Given the description of an element on the screen output the (x, y) to click on. 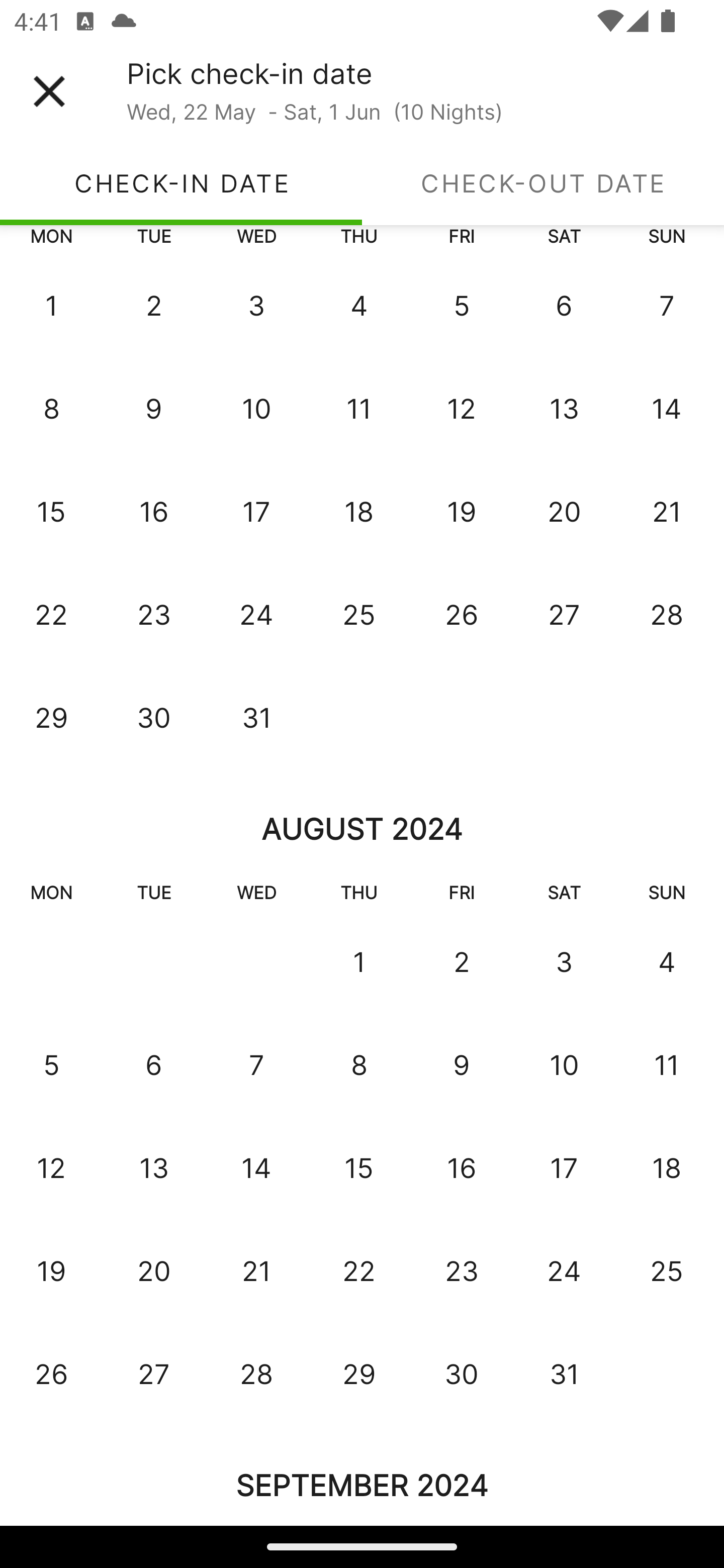
Check-out Date CHECK-OUT DATE (543, 183)
